Given the description of an element on the screen output the (x, y) to click on. 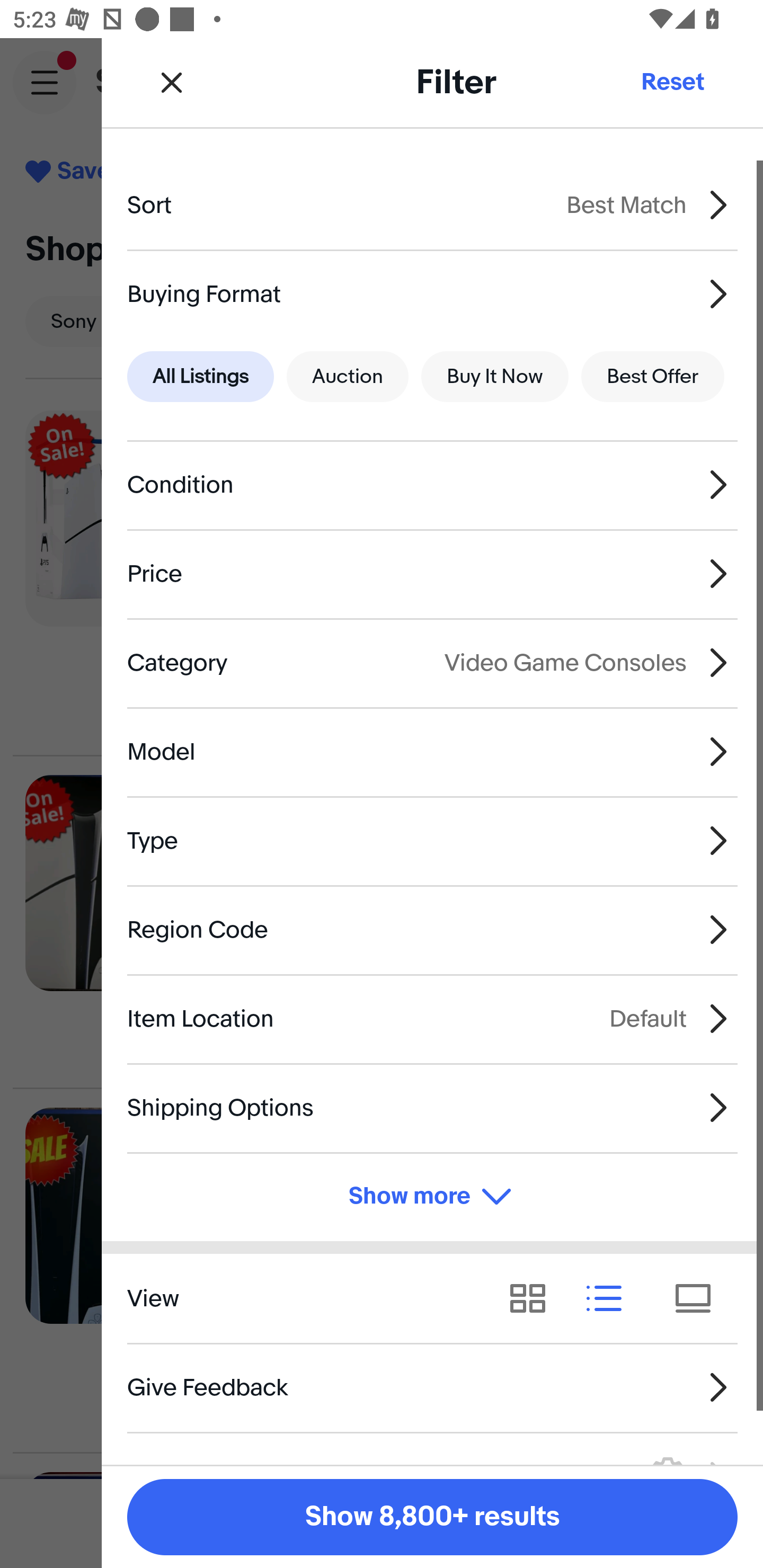
Close Filter (171, 81)
Reset (672, 81)
Buying Format (432, 293)
All Listings (200, 376)
Auction (347, 376)
Buy It Now (494, 376)
Best Offer (652, 376)
Condition (432, 484)
Price (432, 573)
Category Video Game Consoles (432, 662)
Model (432, 751)
Type (432, 840)
Region Code (432, 929)
Item Location Default (432, 1018)
Shipping Options (432, 1107)
Show more (432, 1196)
View results as grid (533, 1297)
View results as list (610, 1297)
View results as tiles (699, 1297)
Show 8,800+ results (432, 1516)
